Given the description of an element on the screen output the (x, y) to click on. 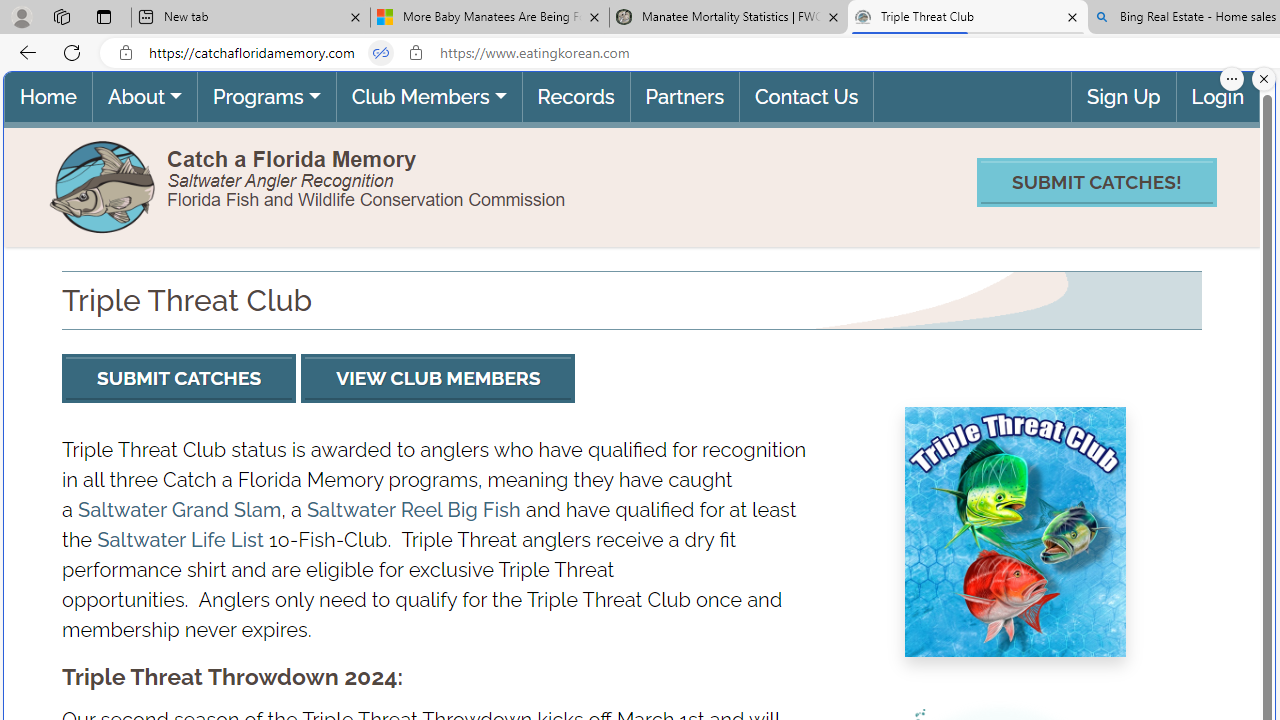
VIEW CLUB MEMBERS (438, 378)
Triple Threat Club image (1014, 531)
Records (574, 96)
About (144, 96)
Saltwater Life List (180, 539)
Contact Us (806, 96)
Tab actions menu (104, 16)
Triple Threat Club (967, 17)
Contact Us (806, 96)
Tabs in split screen (381, 53)
